Given the description of an element on the screen output the (x, y) to click on. 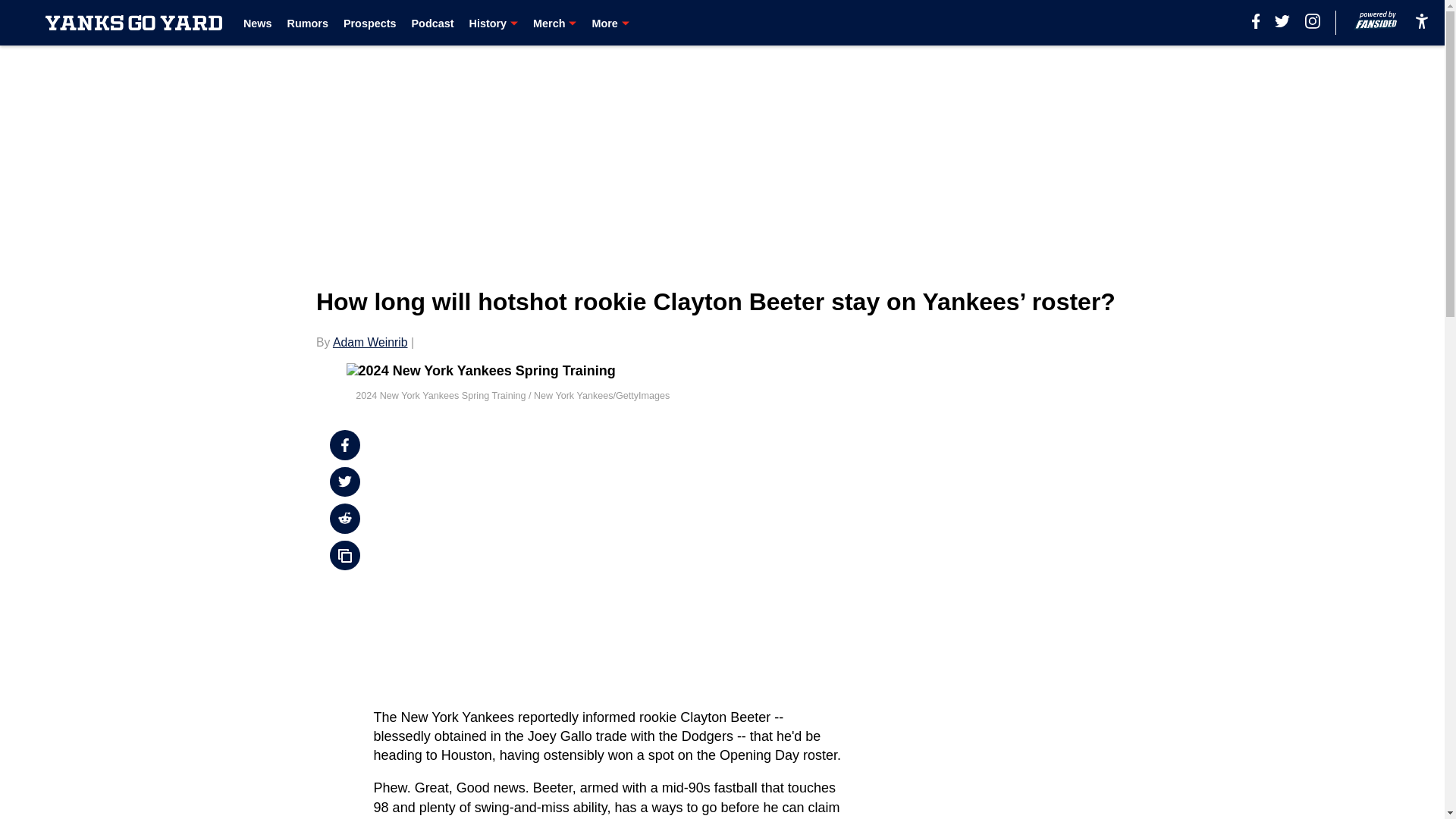
Prospects (369, 23)
Rumors (307, 23)
News (257, 23)
Adam Weinrib (370, 341)
Podcast (431, 23)
